Given the description of an element on the screen output the (x, y) to click on. 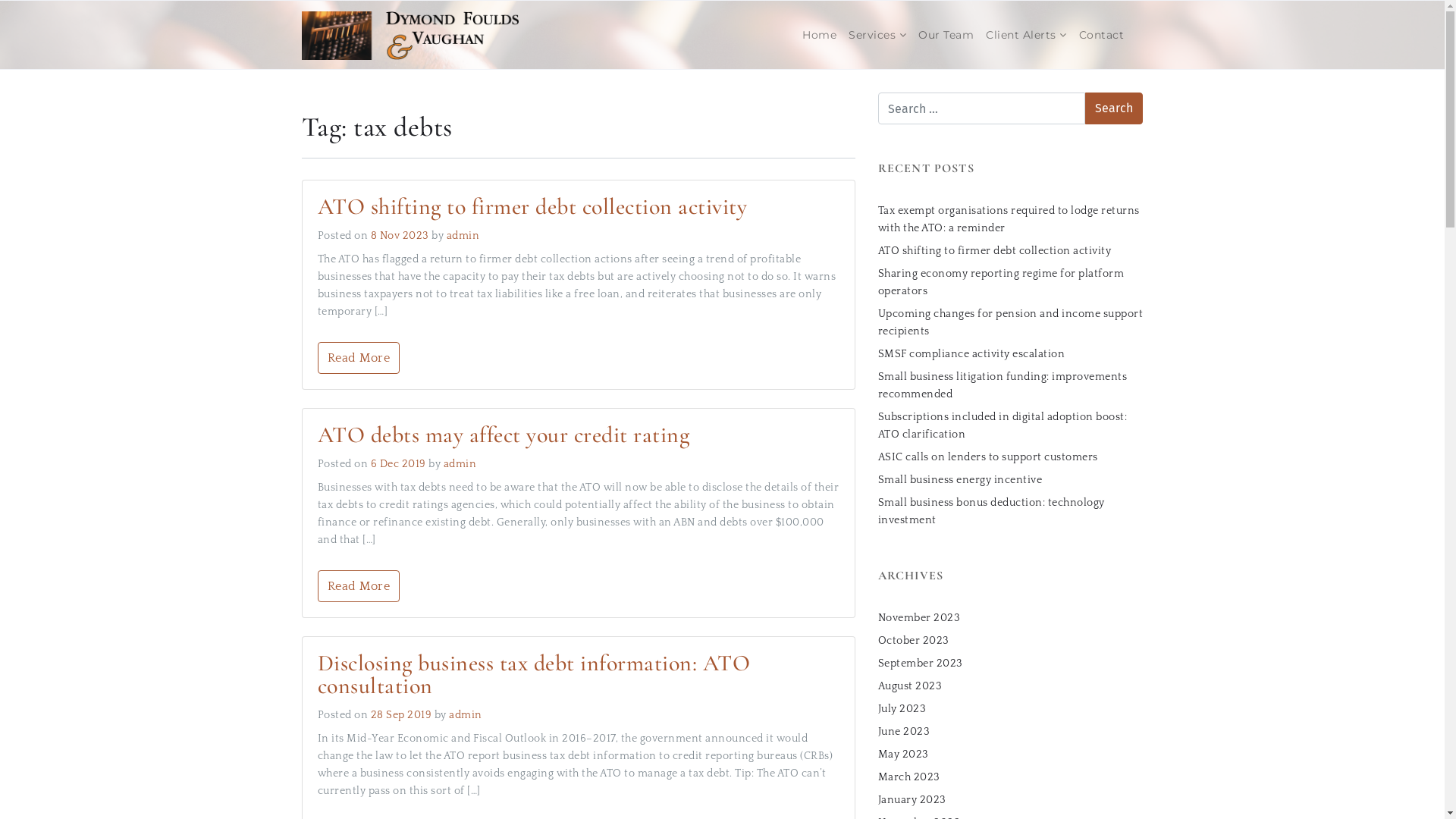
Small business bonus deduction: technology investment Element type: text (991, 510)
ATO shifting to firmer debt collection activity Element type: text (531, 206)
6 Dec 2019 Element type: text (399, 464)
October 2023 Element type: text (913, 639)
November 2023 Element type: text (919, 617)
SMSF compliance activity escalation Element type: text (971, 353)
ATO debts may affect your credit rating Element type: text (502, 434)
Sharing economy reporting regime for platform operators Element type: text (1001, 281)
Services Element type: text (877, 34)
September 2023 Element type: text (920, 662)
Read More Element type: text (357, 586)
admin Element type: text (462, 235)
Dymond Foulds & Vaughan Element type: hover (410, 34)
ASIC calls on lenders to support customers Element type: text (988, 456)
May 2023 Element type: text (903, 753)
admin Element type: text (459, 464)
March 2023 Element type: text (909, 776)
Upcoming changes for pension and income support recipients Element type: text (1010, 322)
Contact Element type: text (1100, 34)
8 Nov 2023 Element type: text (400, 235)
28 Sep 2019 Element type: text (401, 715)
Disclosing business tax debt information: ATO consultation Element type: text (532, 674)
January 2023 Element type: text (912, 799)
Small business litigation funding: improvements recommended Element type: text (1002, 384)
admin Element type: text (465, 715)
Client Alerts Element type: text (1026, 34)
June 2023 Element type: text (904, 730)
Read More Element type: text (357, 357)
Search Element type: text (1113, 108)
Home Element type: text (819, 34)
ATO shifting to firmer debt collection activity Element type: text (994, 250)
July 2023 Element type: text (902, 708)
August 2023 Element type: text (910, 685)
Small business energy incentive Element type: text (960, 479)
Our Team Element type: text (945, 34)
